Given the description of an element on the screen output the (x, y) to click on. 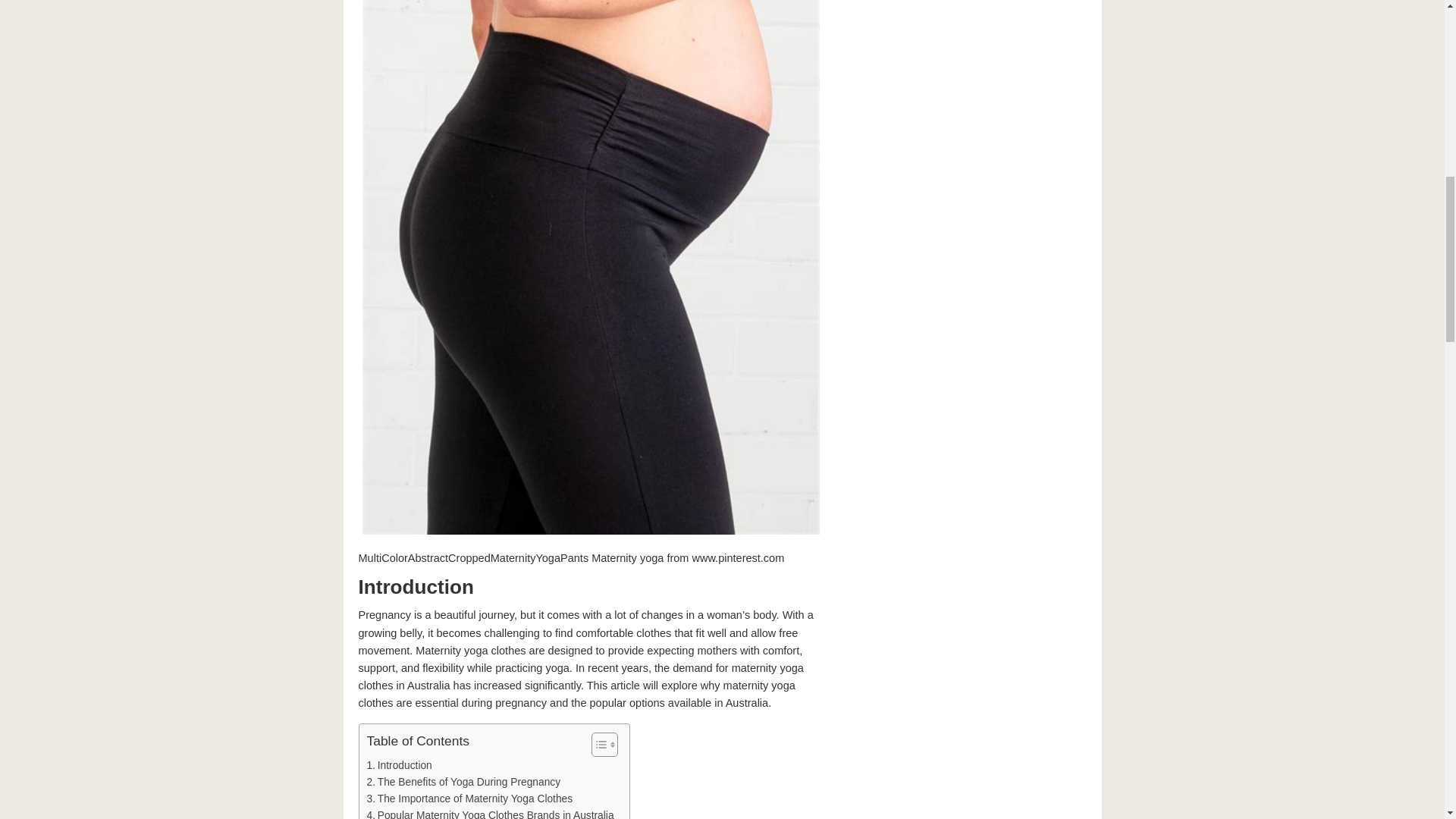
The Benefits of Yoga During Pregnancy (463, 782)
Popular Maternity Yoga Clothes Brands in Australia (490, 813)
Introduction (399, 765)
The Benefits of Yoga During Pregnancy (463, 782)
Popular Maternity Yoga Clothes Brands in Australia (490, 813)
Introduction (399, 765)
The Importance of Maternity Yoga Clothes (469, 799)
The Importance of Maternity Yoga Clothes (469, 799)
